Given the description of an element on the screen output the (x, y) to click on. 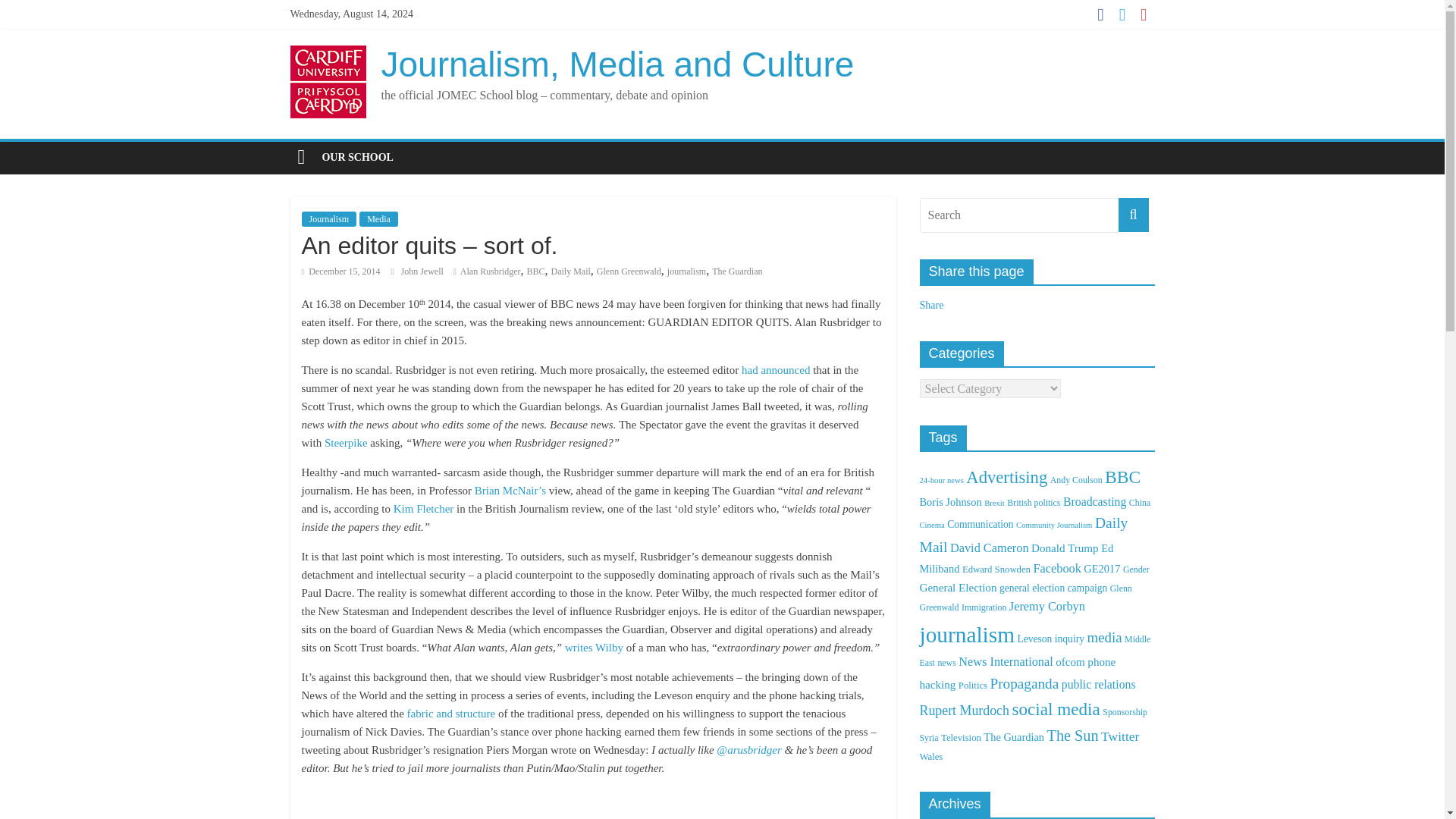
BBC (535, 271)
 had announced  (775, 369)
December 15, 2014 (340, 271)
Journalism, Media and Culture (616, 64)
John Jewell (422, 271)
Alan Rusbridger (490, 271)
Kim Fletcher (423, 508)
Journalism (328, 218)
John Jewell (422, 271)
Journalism, Media and Culture (616, 64)
